Given the description of an element on the screen output the (x, y) to click on. 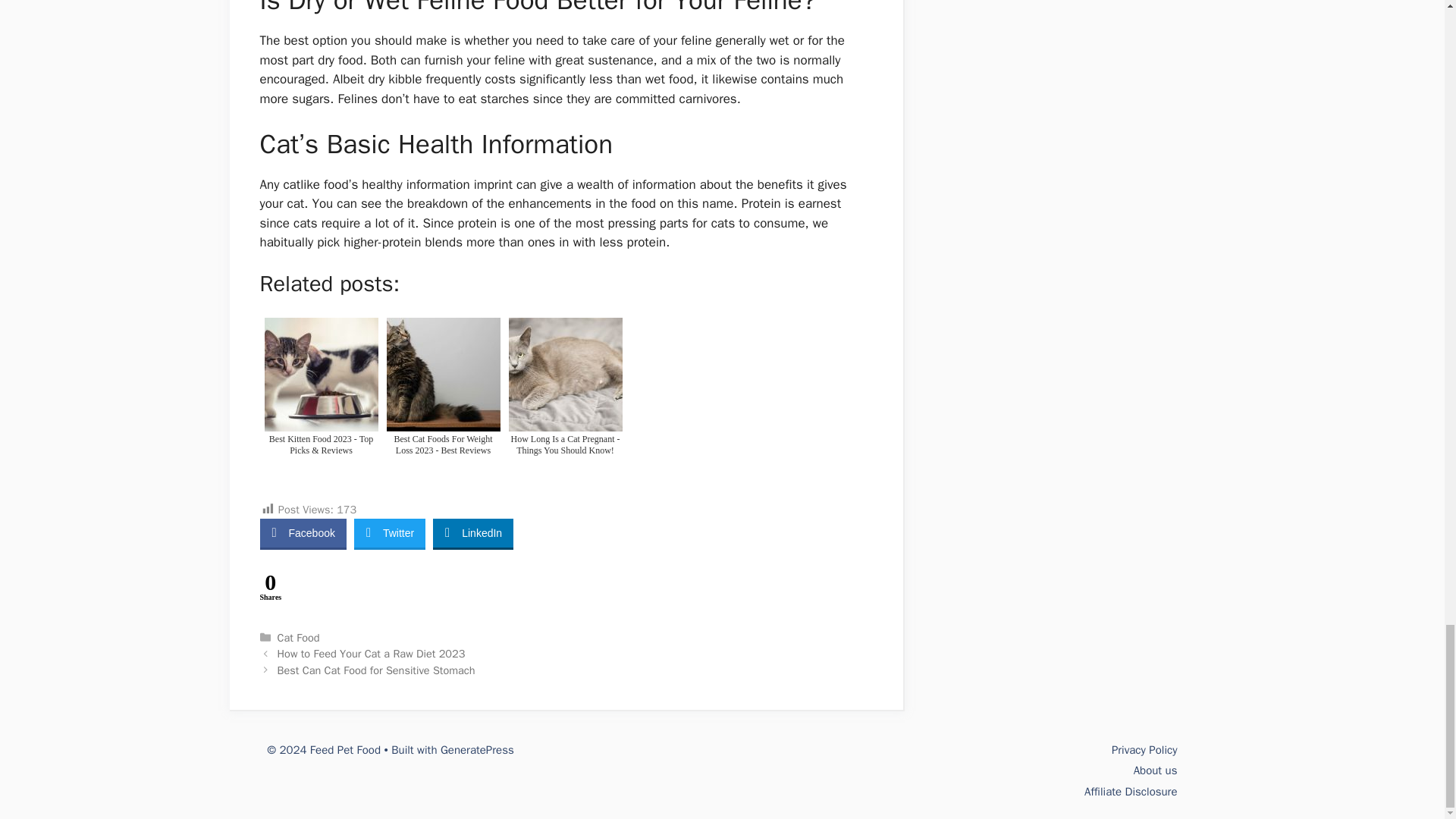
Previous (371, 653)
Next (377, 670)
